Given the description of an element on the screen output the (x, y) to click on. 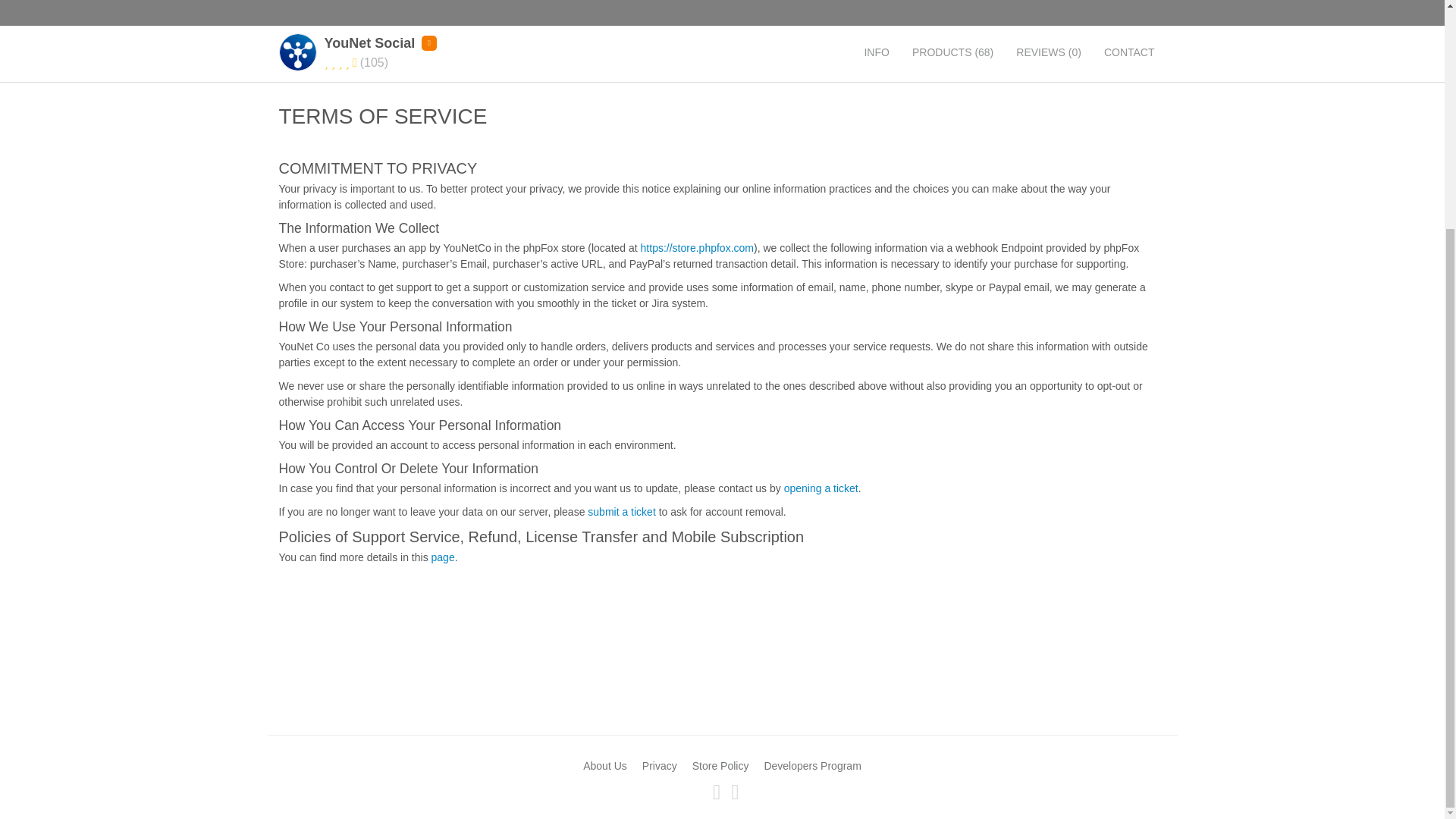
INFO (875, 51)
page (442, 557)
Developers Program (811, 766)
opening a ticket (821, 488)
submit a ticket (621, 511)
About Us (605, 766)
Privacy (659, 766)
Store Policy (721, 766)
Privacy (659, 766)
CONTACT (1129, 51)
Developers Program (811, 766)
About Us (605, 766)
Store Policy (721, 766)
